Given the description of an element on the screen output the (x, y) to click on. 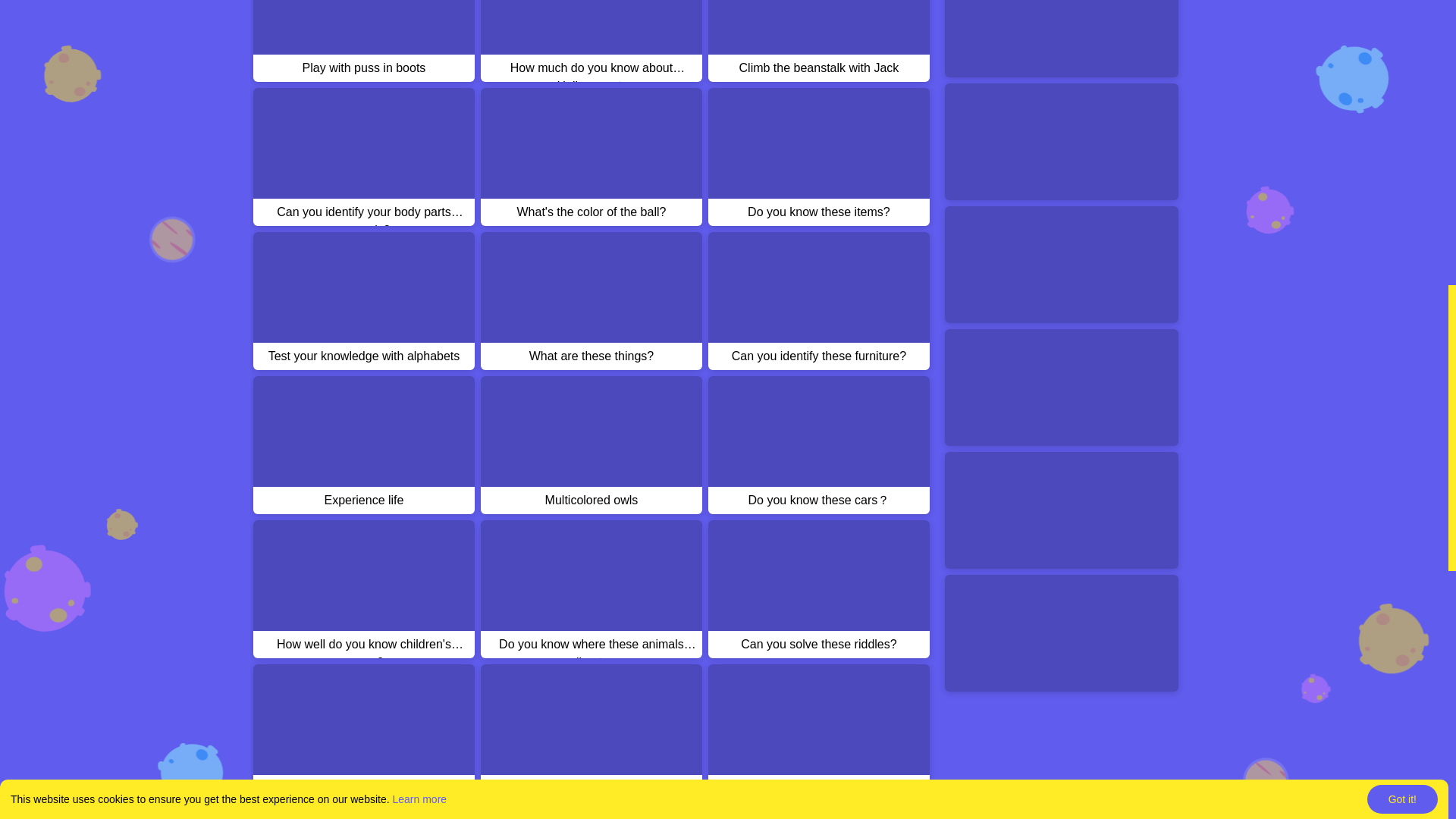
What are these things? (590, 300)
Play with puss in boots (363, 40)
Test your knowledge with alphabets (363, 300)
Can you identify these furniture? (818, 300)
Do you know these items? (818, 156)
What's the color of the ball? (590, 156)
Climb the beanstalk with Jack (818, 40)
Can you identify your body parts correctly? (363, 156)
